Given the description of an element on the screen output the (x, y) to click on. 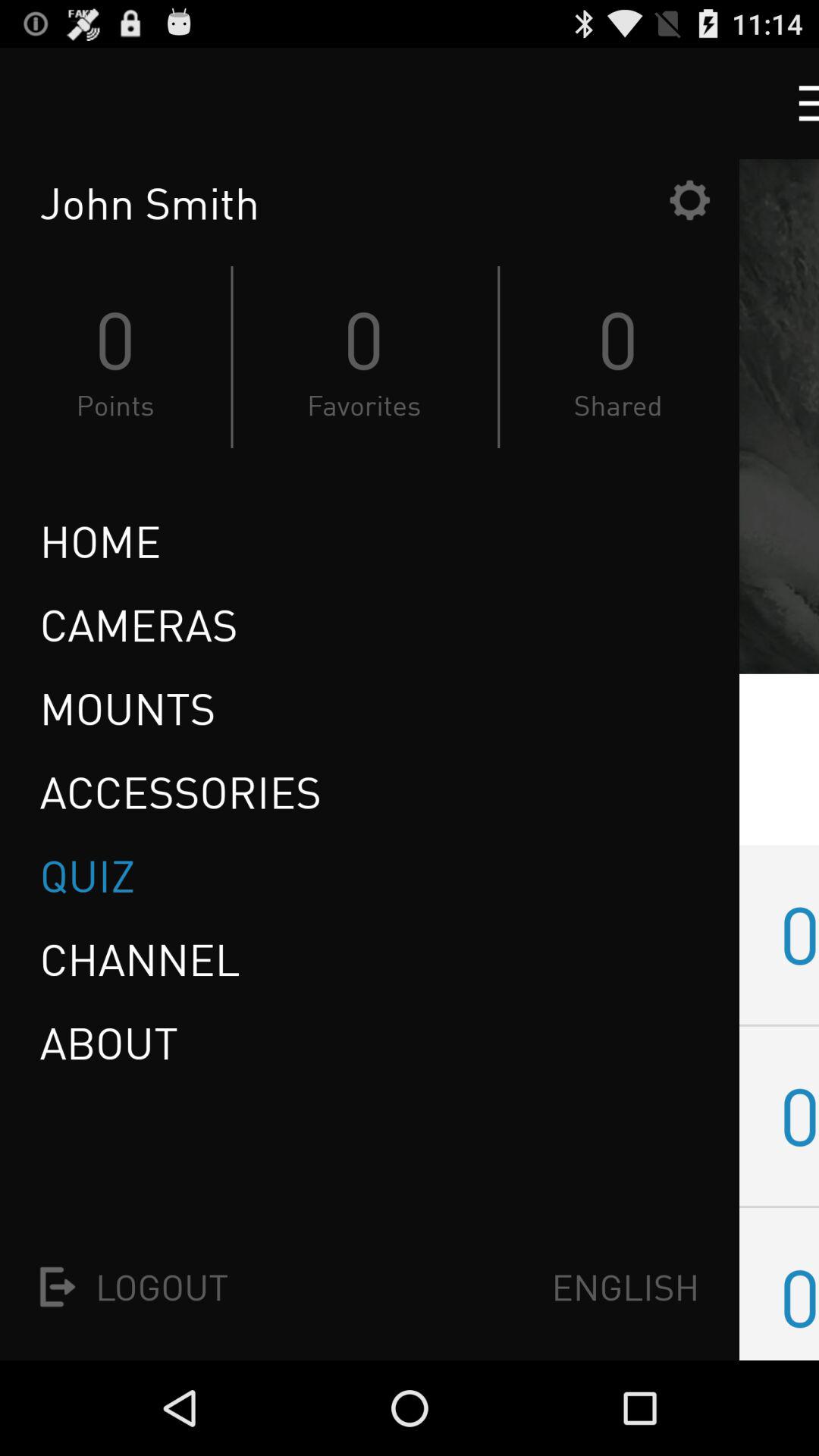
swipe until quiz  icon (92, 875)
